Given the description of an element on the screen output the (x, y) to click on. 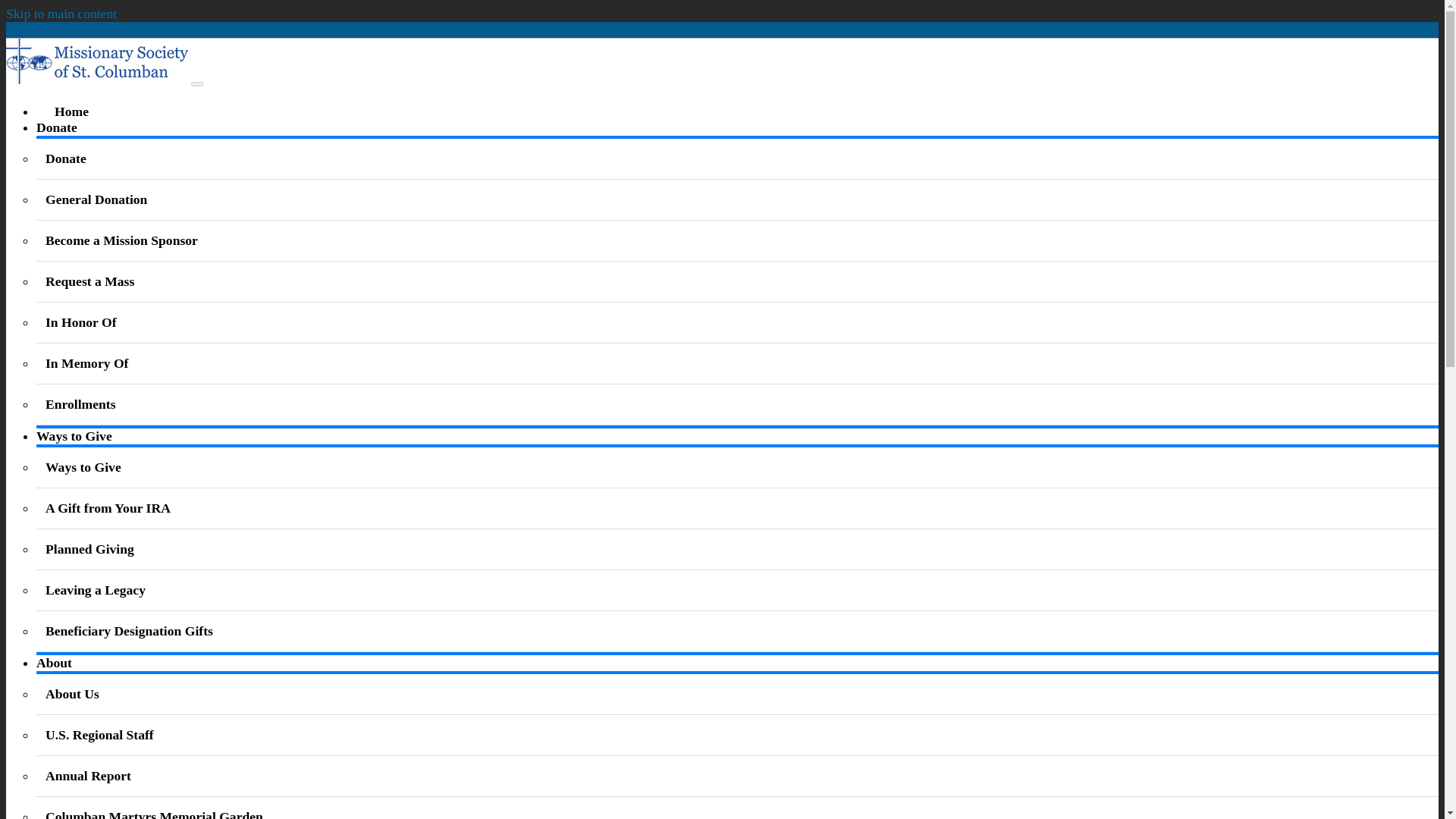
Home (97, 79)
In Memory Of (86, 363)
General Donation (96, 199)
Leaving a Legacy (95, 589)
Donate (56, 127)
Donate (65, 158)
Planned Giving (89, 548)
A Gift from Your IRA (107, 507)
Home (62, 111)
In Memory of donation form (86, 363)
